Given the description of an element on the screen output the (x, y) to click on. 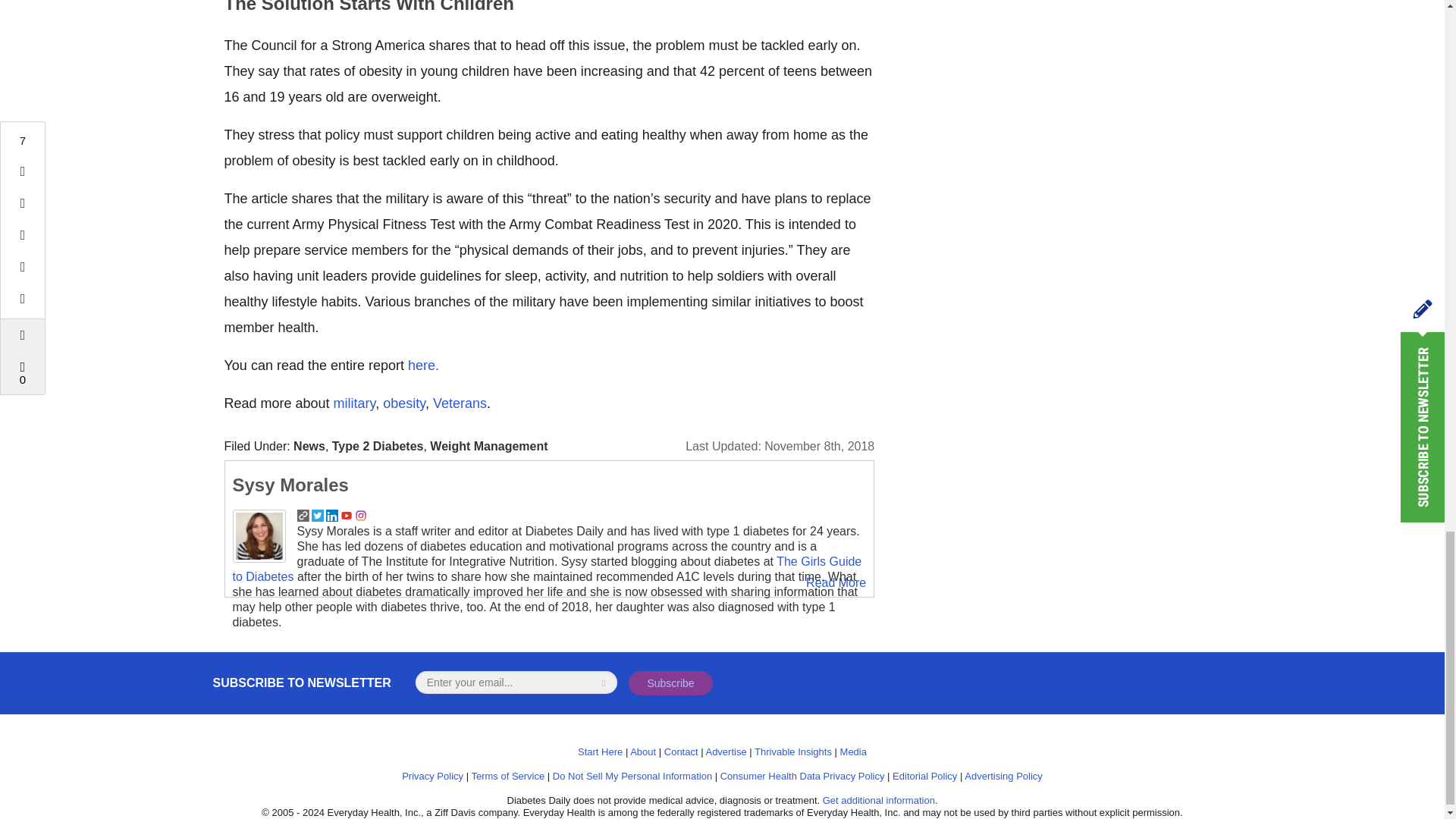
All posts by Sysy Morales (289, 485)
